Given the description of an element on the screen output the (x, y) to click on. 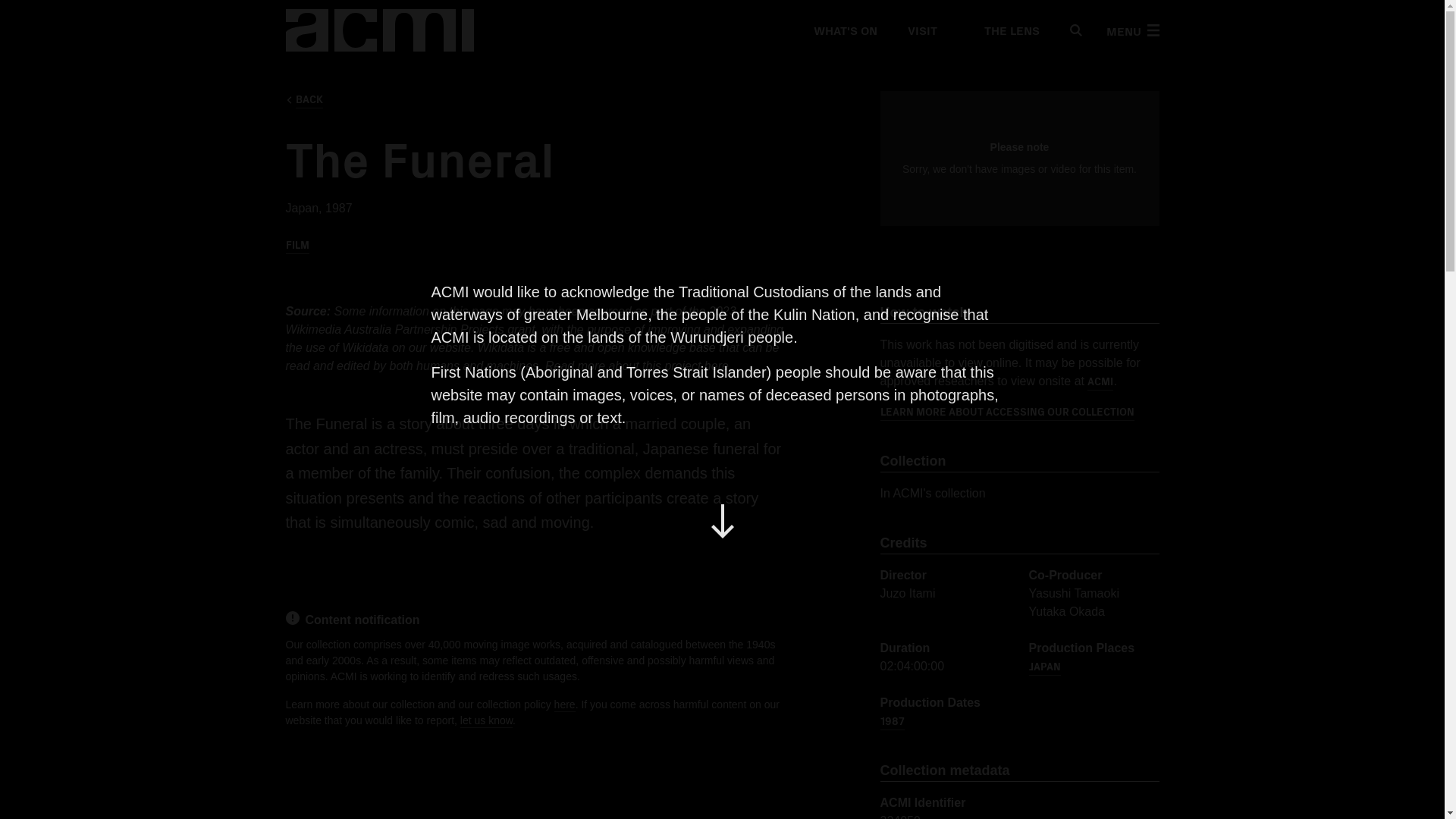
WHAT'S ON (844, 30)
MENU (1131, 29)
THE LENS (1003, 30)
VISIT (921, 30)
